Given the description of an element on the screen output the (x, y) to click on. 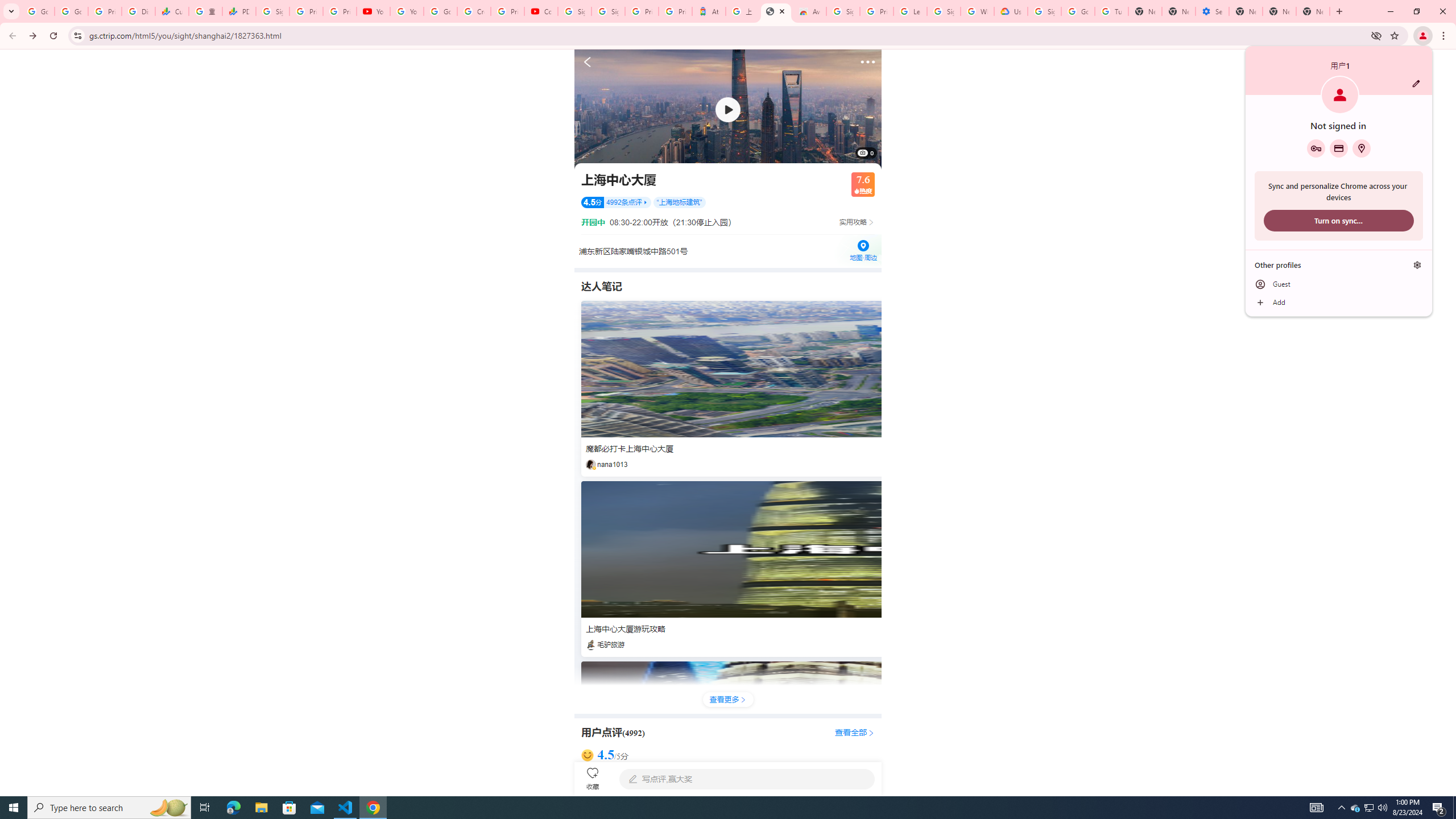
Q2790: 100% (1382, 807)
New Tab (1313, 11)
Atour Hotel - Google hotels (708, 11)
Currencies - Google Finance (171, 11)
Google Chrome - 1 running window (1368, 807)
Turn cookies on or off - Computer - Google Account Help (373, 807)
Type here to search (1355, 807)
